Given the description of an element on the screen output the (x, y) to click on. 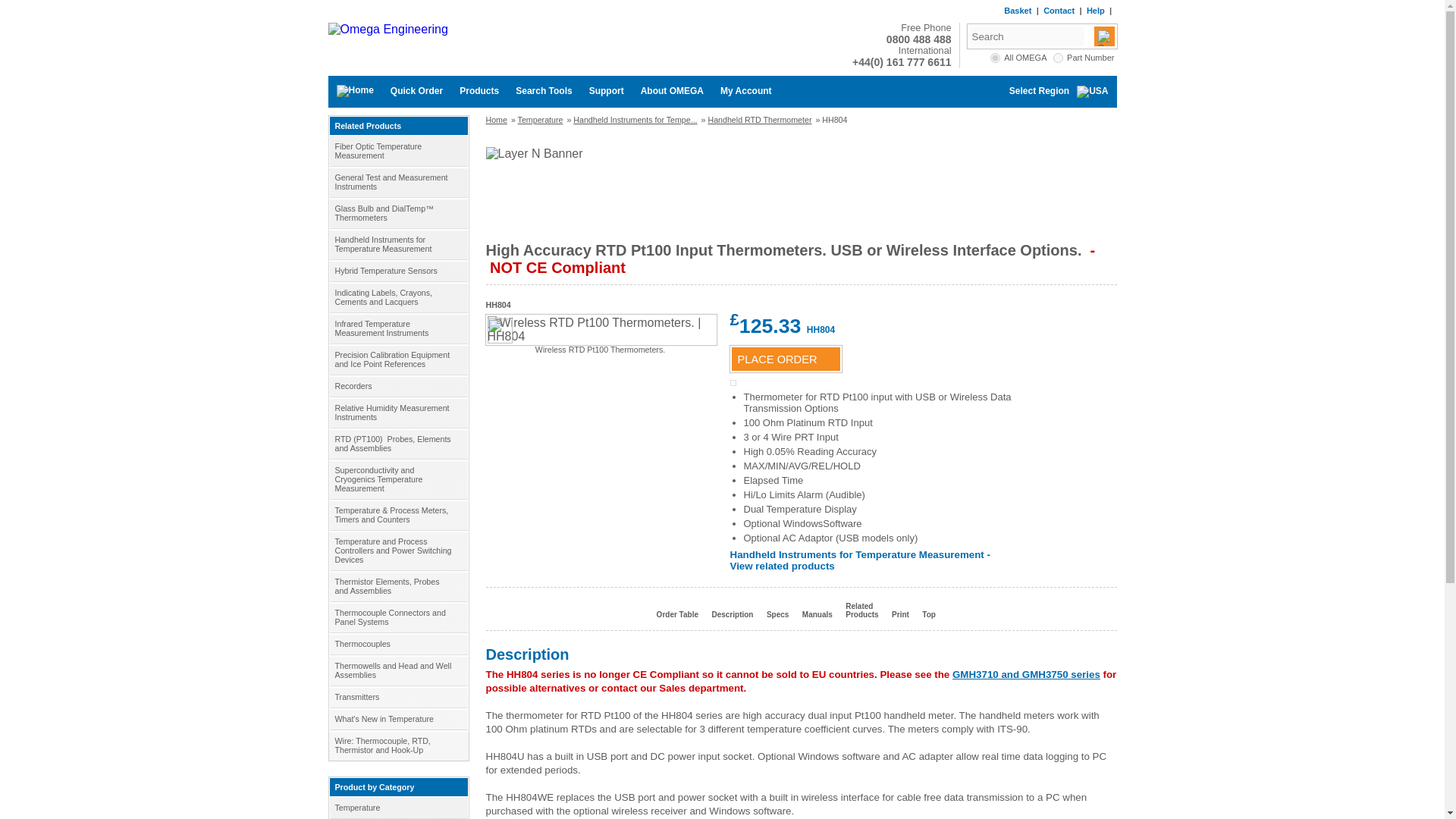
Infrared Temperature Measurement Instruments (398, 327)
Thermocouple Connectors and Panel Systems (398, 616)
Hybrid Temperature Sensors (398, 270)
pn (1057, 58)
Quick Order (416, 91)
Products (478, 91)
Indicating Labels, Crayons, Cements and Lacquers (398, 296)
allomega (995, 58)
Fiber Optic Temperature Measurement (398, 150)
Relative Humidity Measurement Instruments (398, 412)
